Given the description of an element on the screen output the (x, y) to click on. 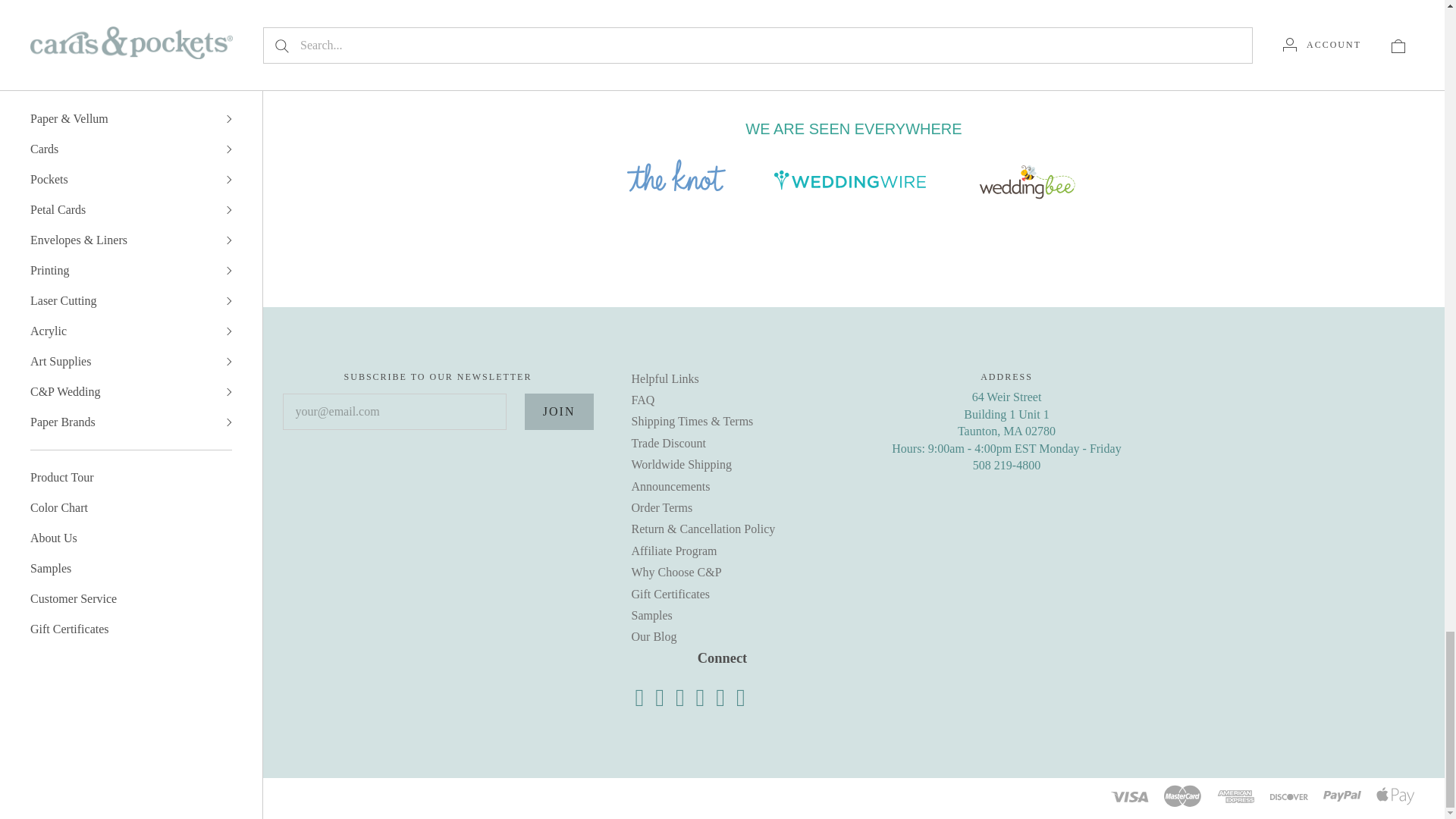
American Express (1236, 795)
Follow us on Youtube (740, 697)
Like Us on Facebook (639, 697)
Follow Us on Pinterest (679, 697)
Join (559, 411)
Paypal (1342, 796)
Discover (1288, 796)
Mastercard (1182, 795)
Follow Us on Instagram (699, 697)
Visa (1129, 796)
Follow Us on Twitter (659, 697)
Apple Pay (1394, 795)
Read our Blog (720, 697)
